Given the description of an element on the screen output the (x, y) to click on. 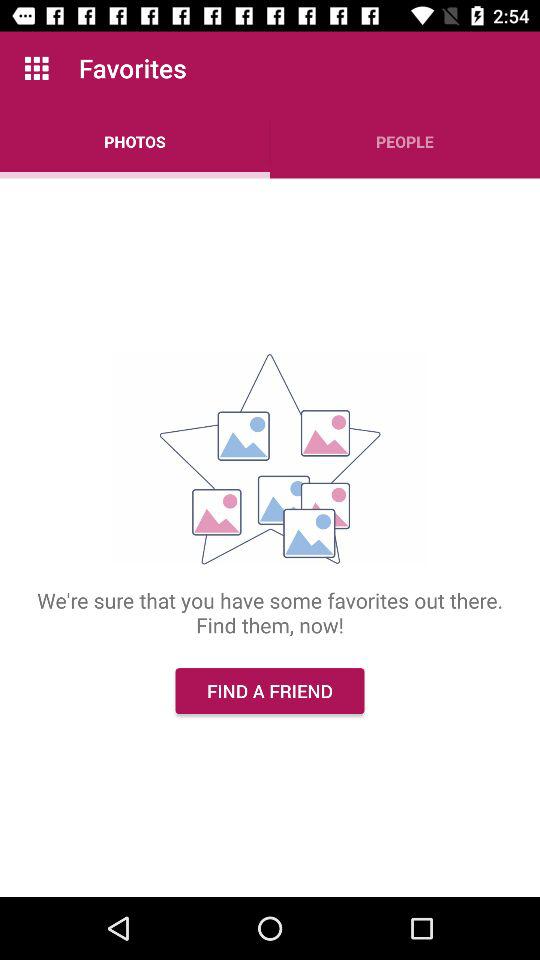
launch app above photos app (36, 68)
